Given the description of an element on the screen output the (x, y) to click on. 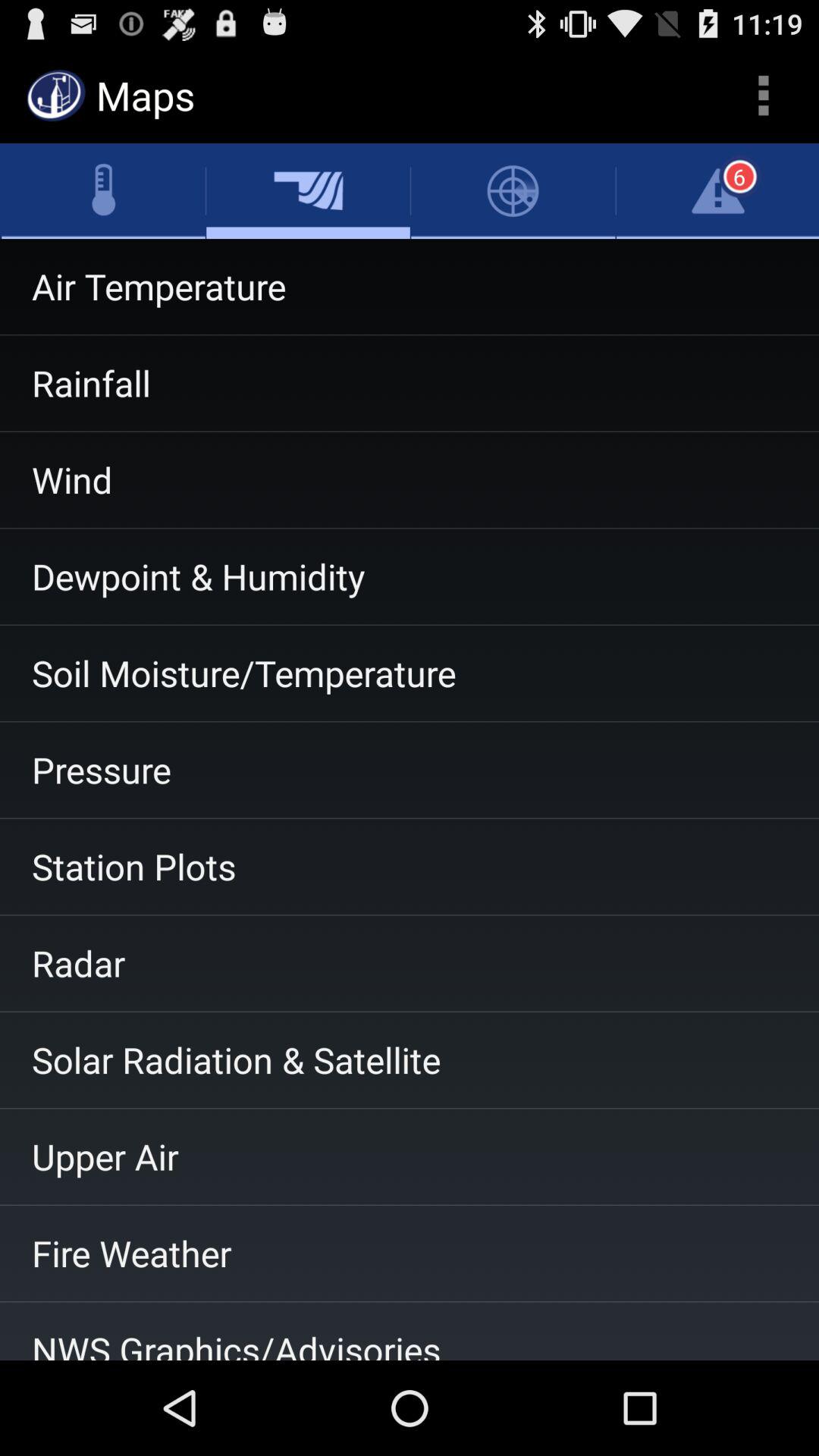
tap radar (409, 963)
